Given the description of an element on the screen output the (x, y) to click on. 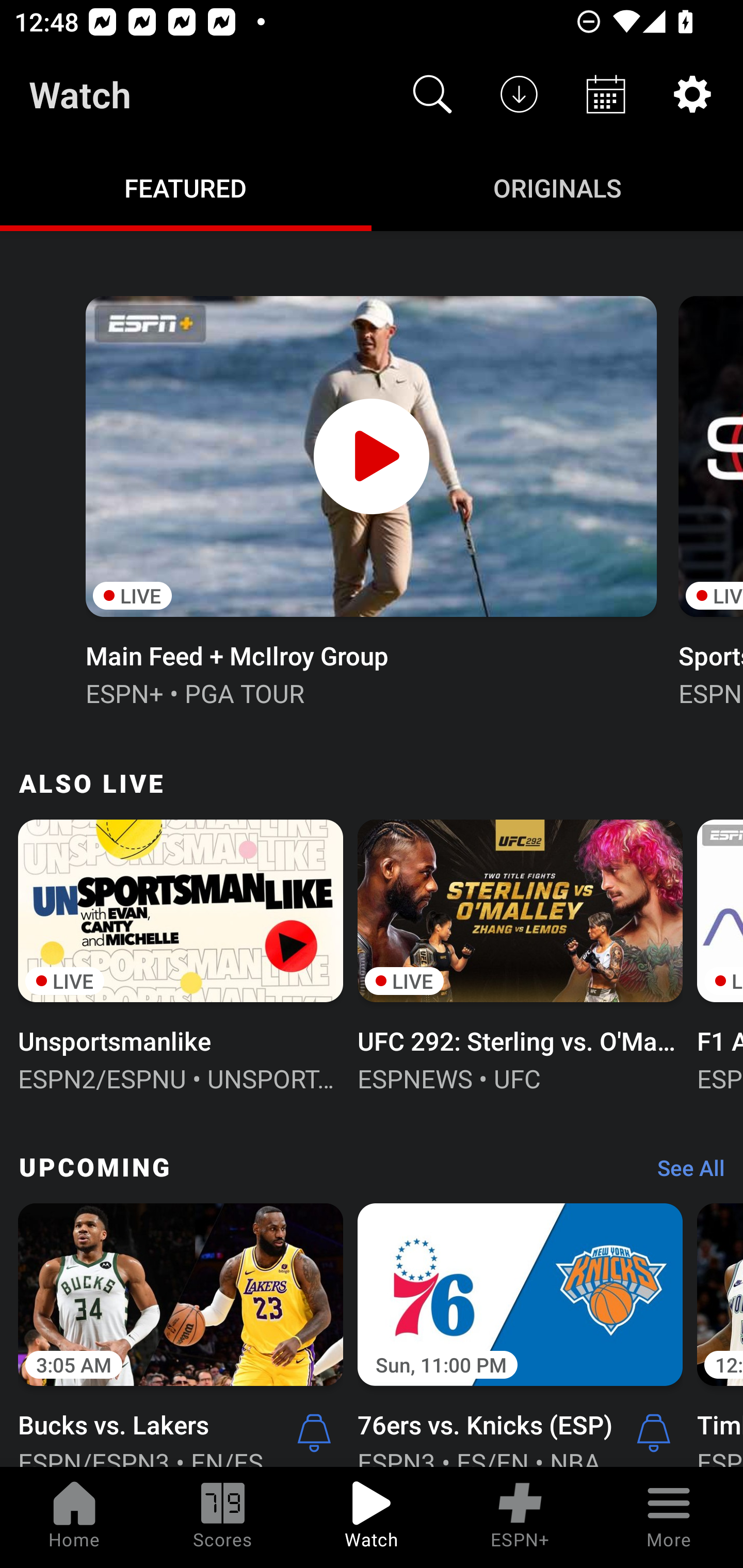
Search (432, 93)
Downloads (518, 93)
Schedule (605, 93)
Settings (692, 93)
Originals ORIGINALS (557, 187)
 LIVE Main Feed + McIlroy Group ESPN+ • PGA TOUR (370, 499)
LIVE UFC 292: Sterling vs. O'Malley ESPNEWS • UFC (519, 954)
See All (683, 1172)
Alerts (314, 1432)
Alerts (653, 1432)
Home (74, 1517)
Scores (222, 1517)
ESPN+ (519, 1517)
More (668, 1517)
